Given the description of an element on the screen output the (x, y) to click on. 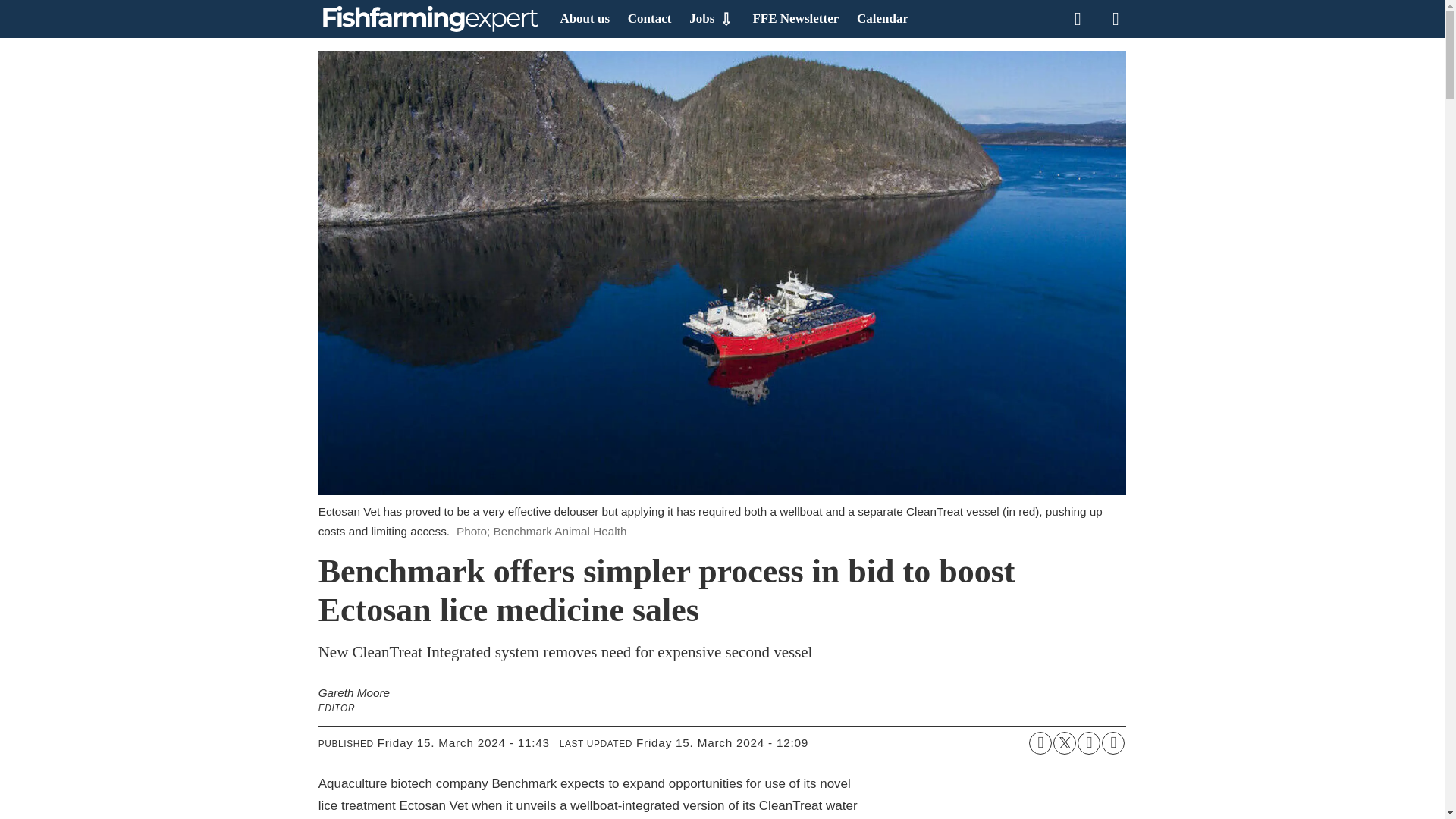
Last updated friday 15. March 2024 - 12:09 (722, 743)
Contact (649, 18)
FFE Newsletter (795, 18)
Calendar (882, 18)
Published friday 15. March 2024 - 11:43 (463, 743)
About us (584, 18)
